Given the description of an element on the screen output the (x, y) to click on. 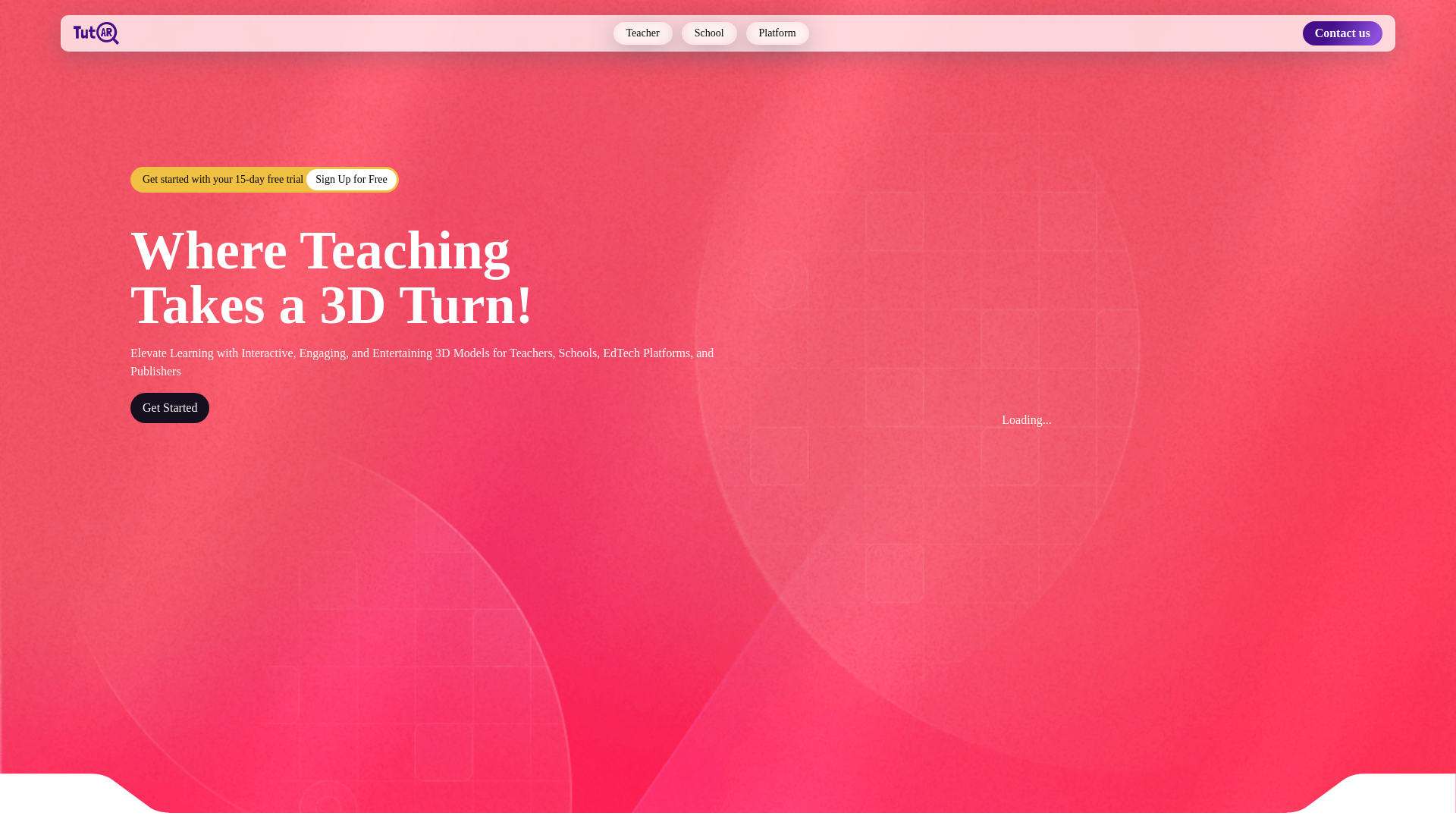
Get Started (170, 408)
Sign Up for Free (350, 179)
Teacher (642, 33)
